Given the description of an element on the screen output the (x, y) to click on. 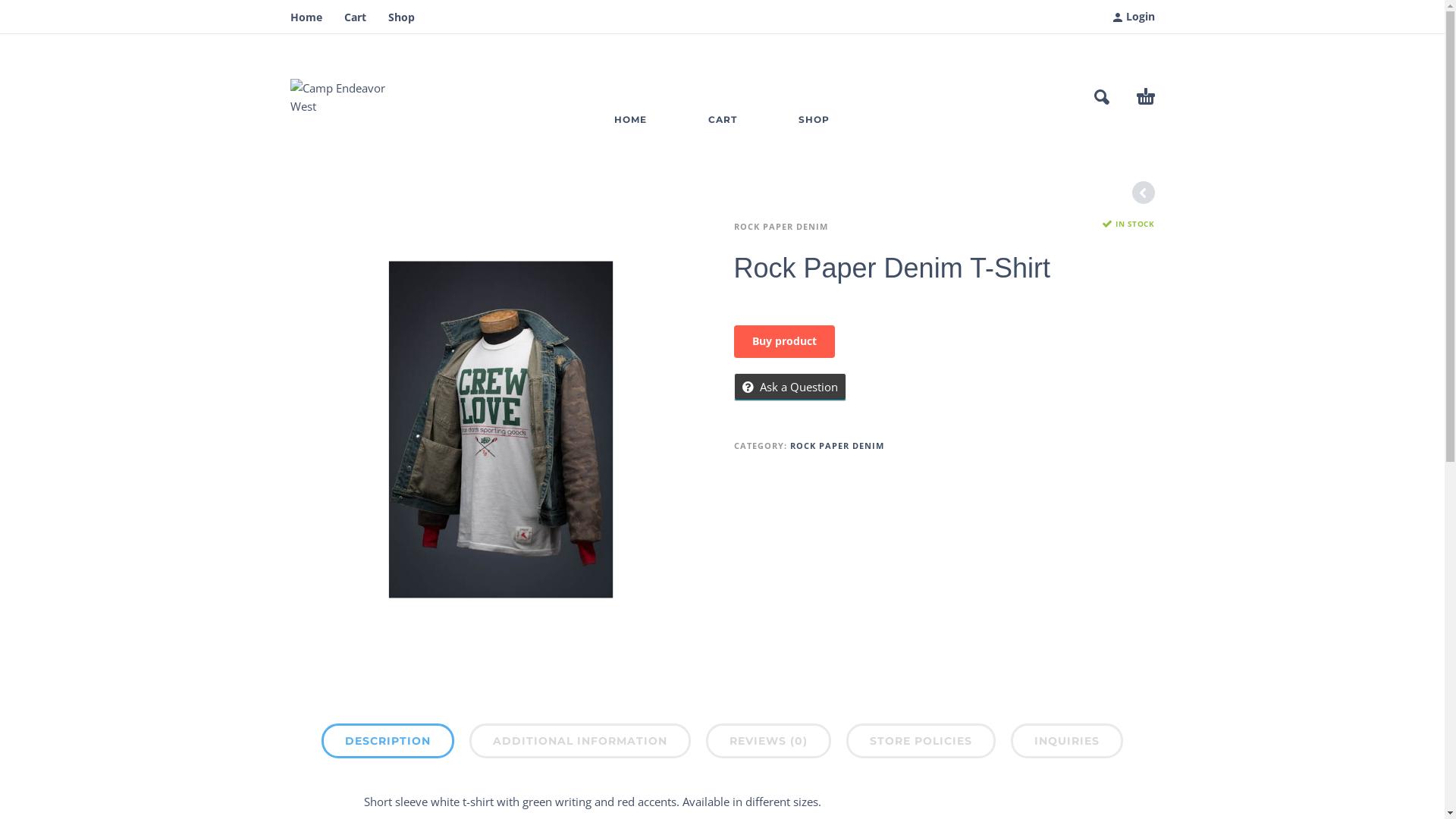
CART Element type: text (722, 117)
ADDITIONAL INFORMATION Element type: text (579, 740)
  Ask a Question Element type: text (790, 386)
ROCK PAPER DENIM Element type: text (781, 226)
INQUIRIES Element type: text (1066, 740)
Login Element type: text (1133, 16)
Cart Element type: text (355, 16)
DESCRIPTION Element type: text (387, 740)
Shop Element type: text (401, 16)
Buy product Element type: text (784, 341)
SHOP Element type: text (813, 117)
REVIEWS (0) Element type: text (768, 740)
STORE POLICIES Element type: text (920, 740)
ROCK PAPER DENIM Element type: text (837, 445)
HOME Element type: text (630, 117)
Home Element type: text (305, 16)
